Given the description of an element on the screen output the (x, y) to click on. 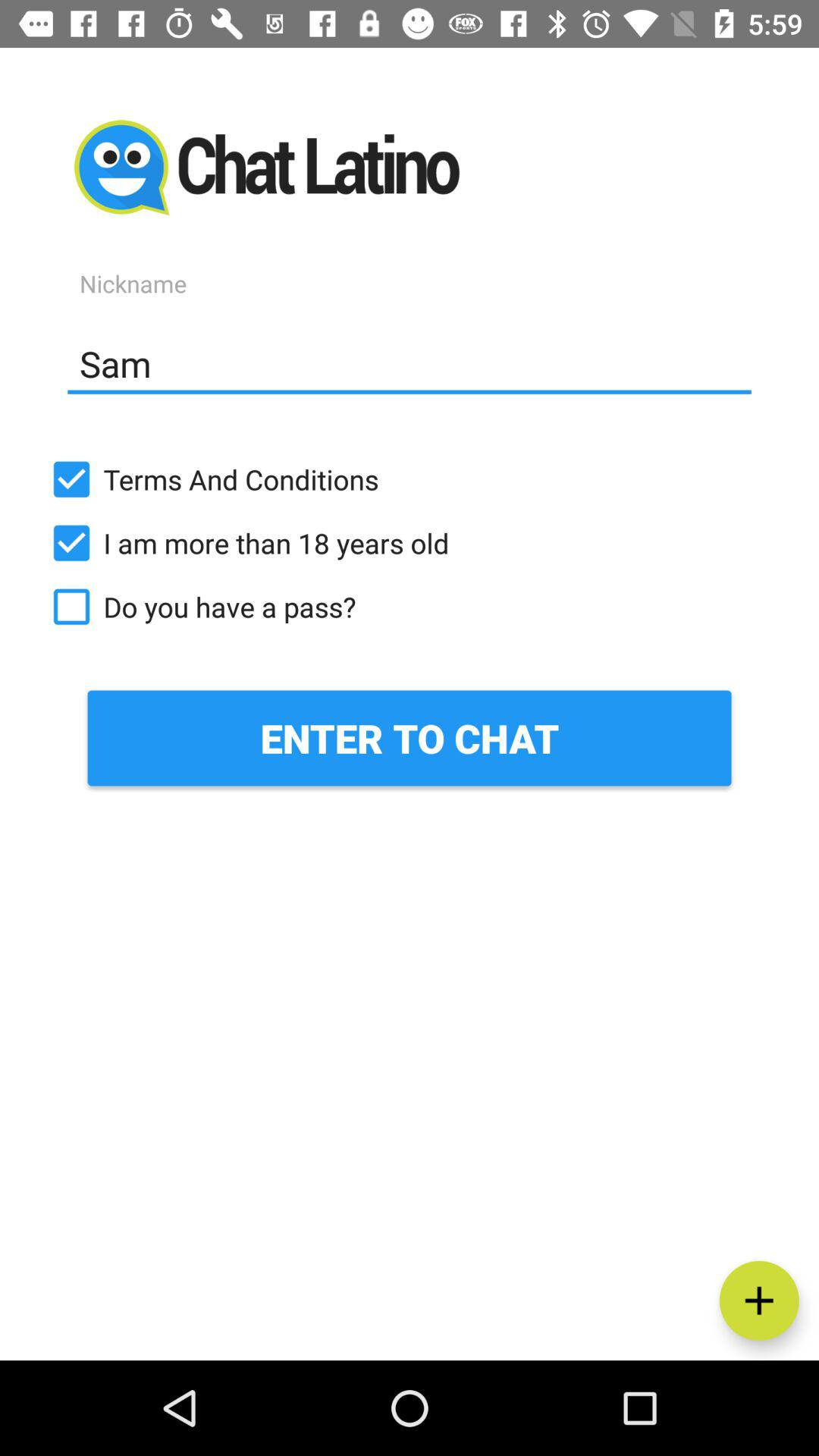
flip until do you have (409, 606)
